Given the description of an element on the screen output the (x, y) to click on. 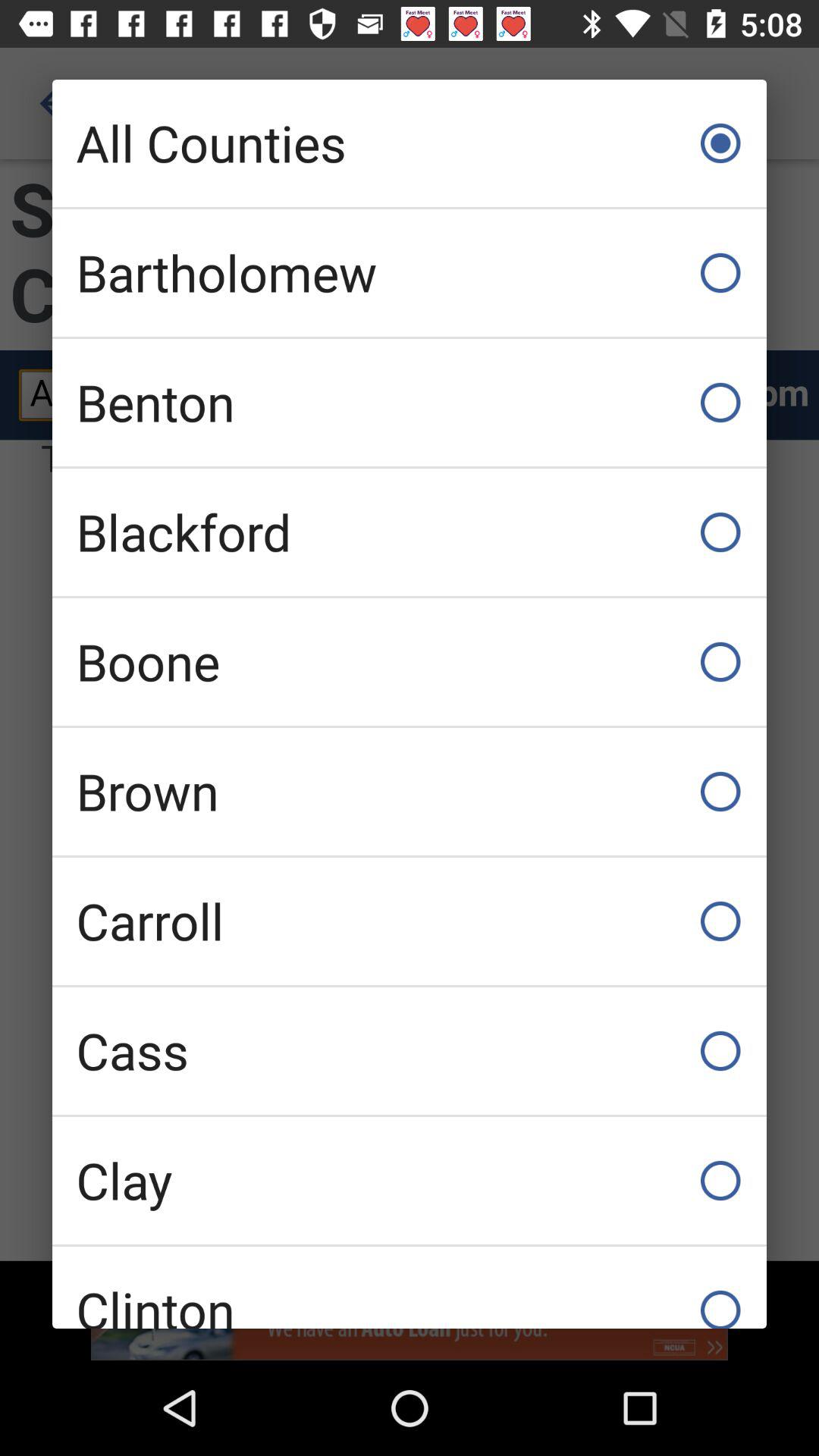
turn on item above brown (409, 661)
